Given the description of an element on the screen output the (x, y) to click on. 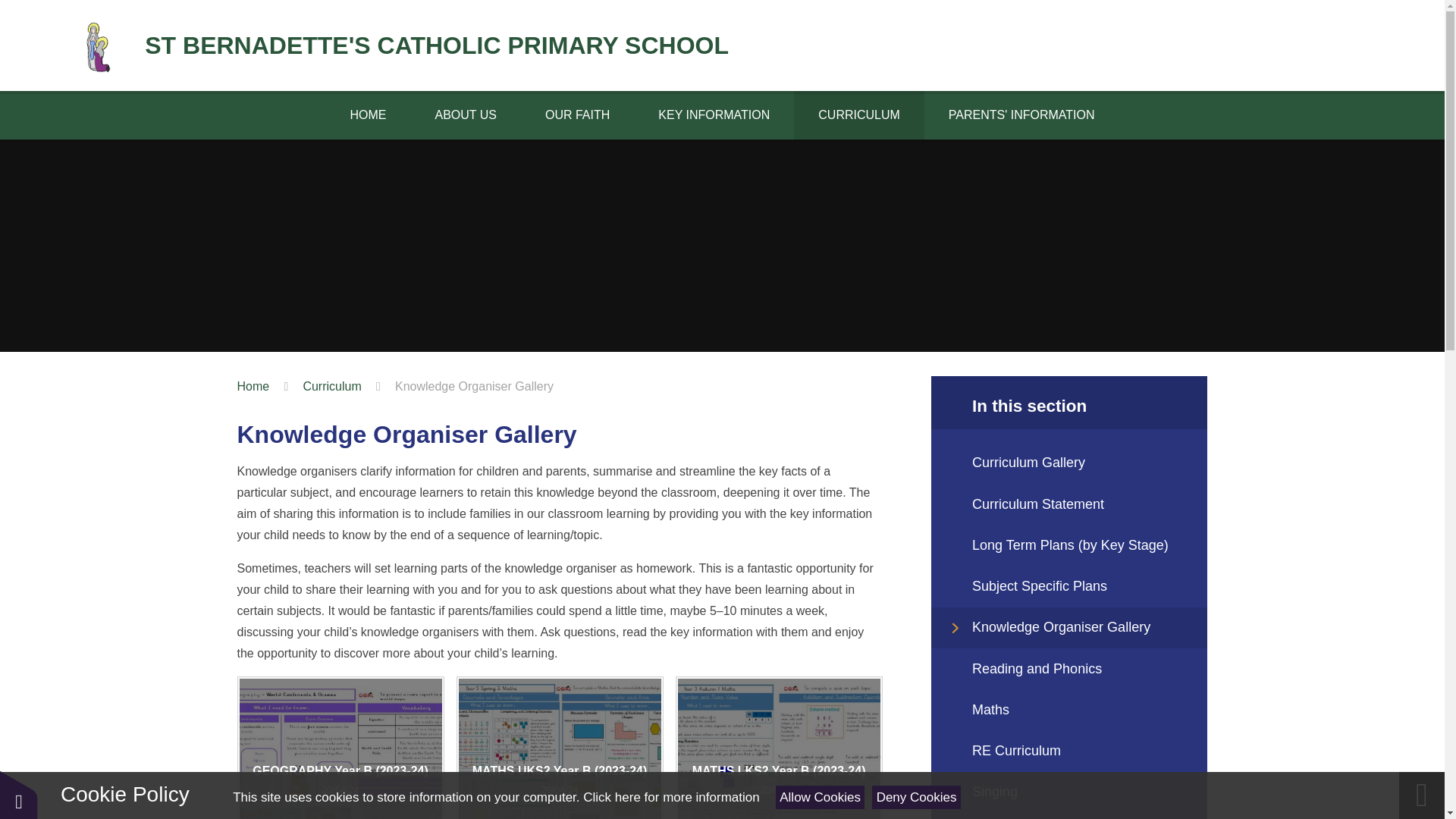
OUR FAITH (577, 114)
Deny Cookies (915, 797)
Allow Cookies (820, 797)
ABOUT US (465, 114)
See cookie policy (670, 797)
ST BERNADETTE'S CATHOLIC PRIMARY SCHOOL (400, 45)
HOME (367, 114)
